Given the description of an element on the screen output the (x, y) to click on. 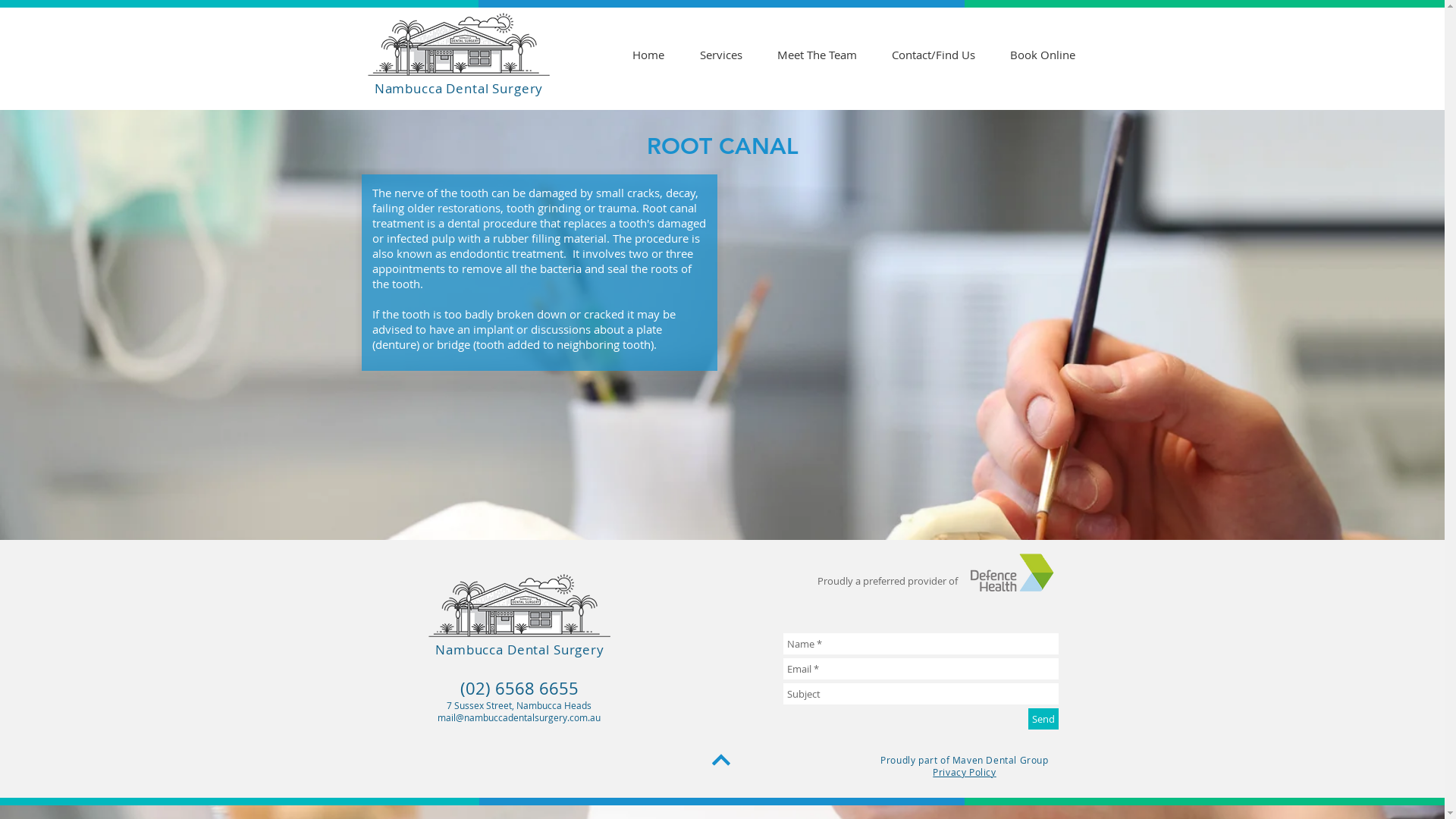
(02) 6568 6655 Element type: text (518, 688)
Book Online Element type: text (1041, 54)
Home Element type: text (647, 54)
Nambucca Dental Surgery Element type: text (519, 649)
Proudly part of Maven Dental Group Element type: text (964, 759)
Meet The Team Element type: text (816, 54)
mail@nambuccadentalsurgery.com.au Element type: text (518, 717)
Nambucca Dental Surgery Element type: text (458, 88)
Contact/Find Us Element type: text (932, 54)
Privacy Policy Element type: text (963, 771)
Send Element type: text (1043, 718)
